Given the description of an element on the screen output the (x, y) to click on. 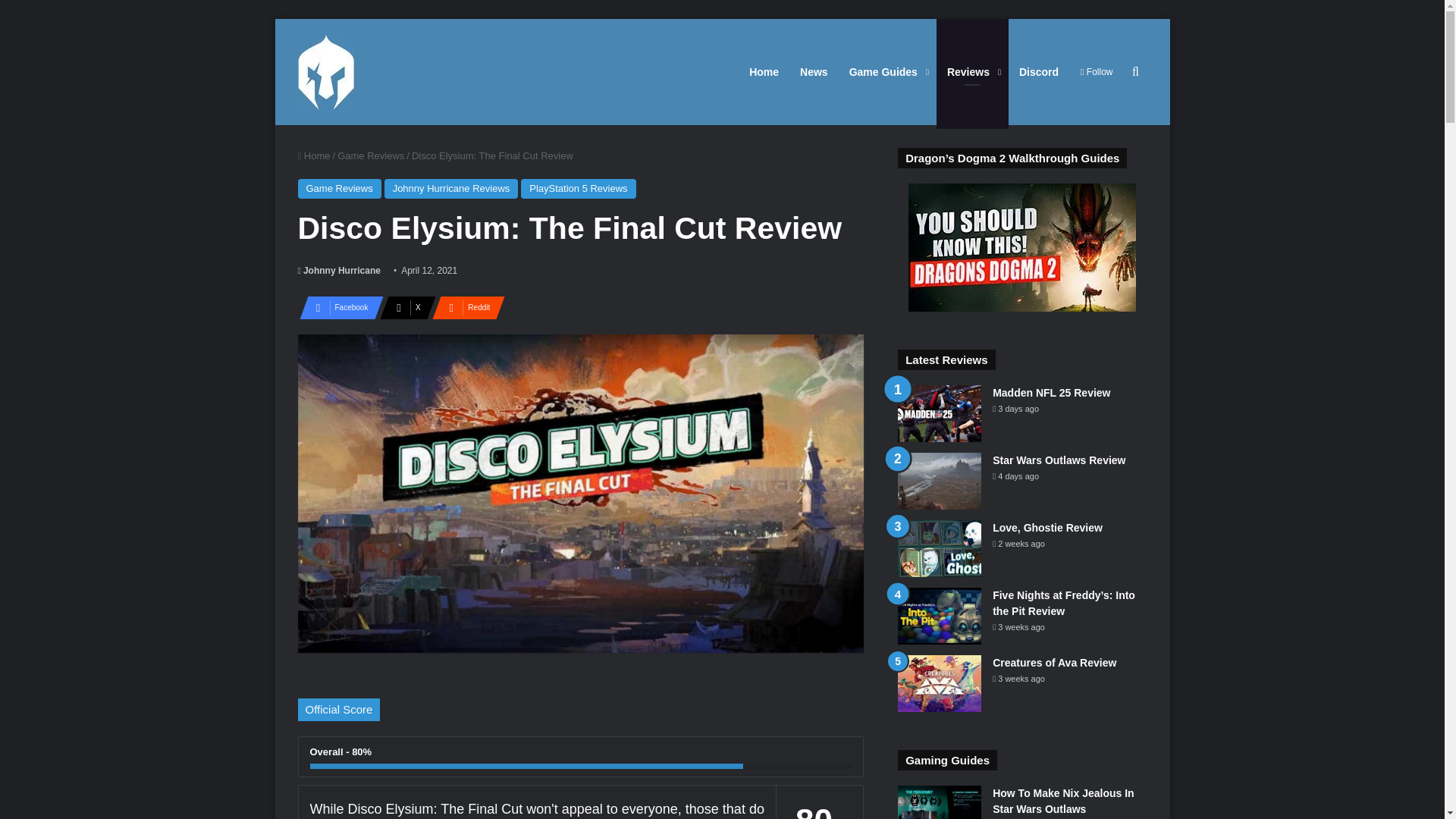
Game Guides (887, 71)
Reddit (464, 307)
Game Reviews (370, 155)
X (403, 307)
PlayStation 5 Reviews (577, 189)
Johnny Hurricane (338, 270)
Game Guides (887, 71)
Johnny Hurricane (338, 270)
Facebook (336, 307)
Game Reviews (338, 189)
